Given the description of an element on the screen output the (x, y) to click on. 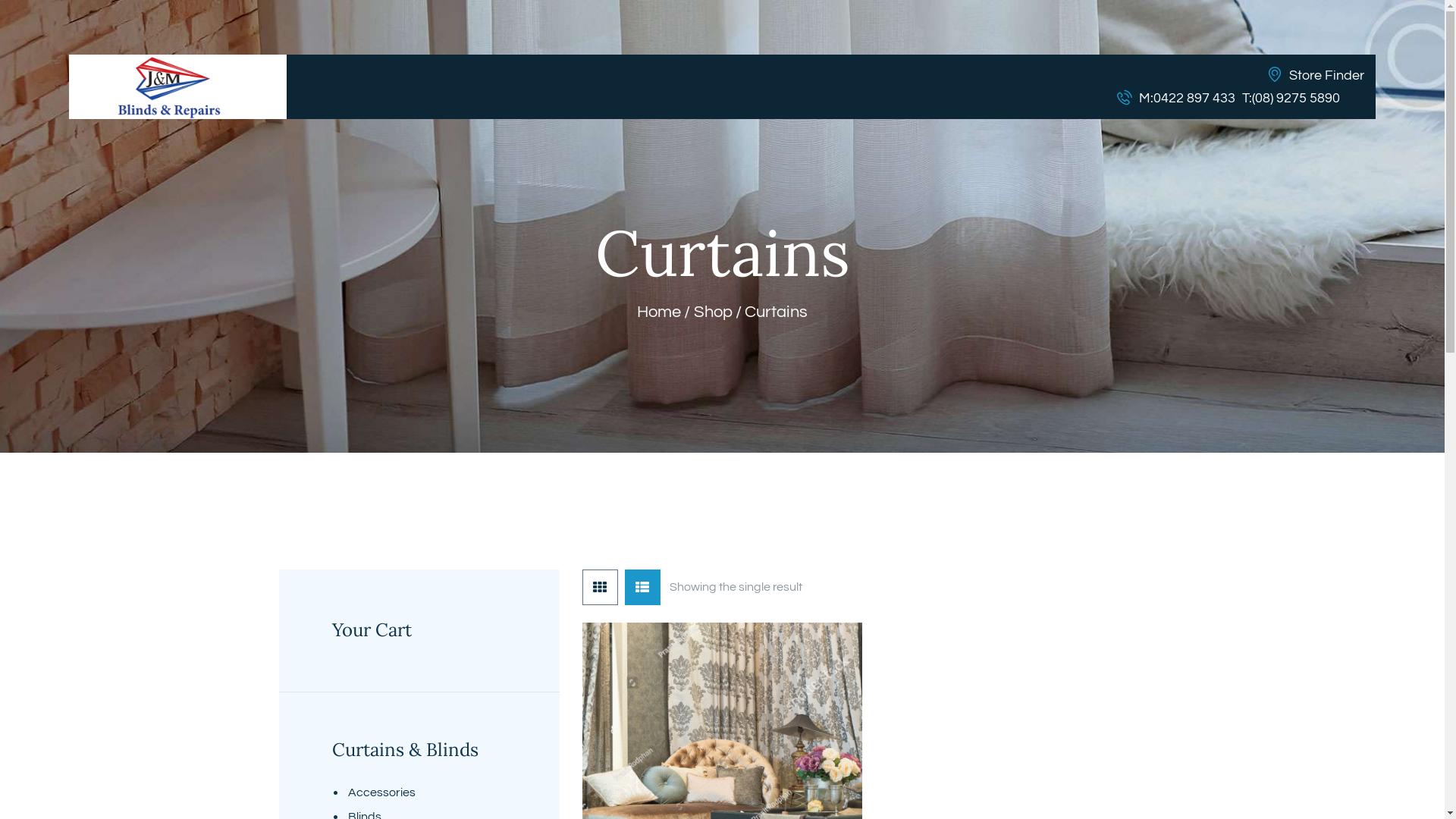
Shop Element type: text (712, 311)
Store Finder Element type: text (1315, 74)
Accessories Element type: text (381, 792)
Home Element type: text (658, 312)
Show products as list Element type: hover (642, 587)
Show products as thumbs Element type: hover (600, 587)
